Given the description of an element on the screen output the (x, y) to click on. 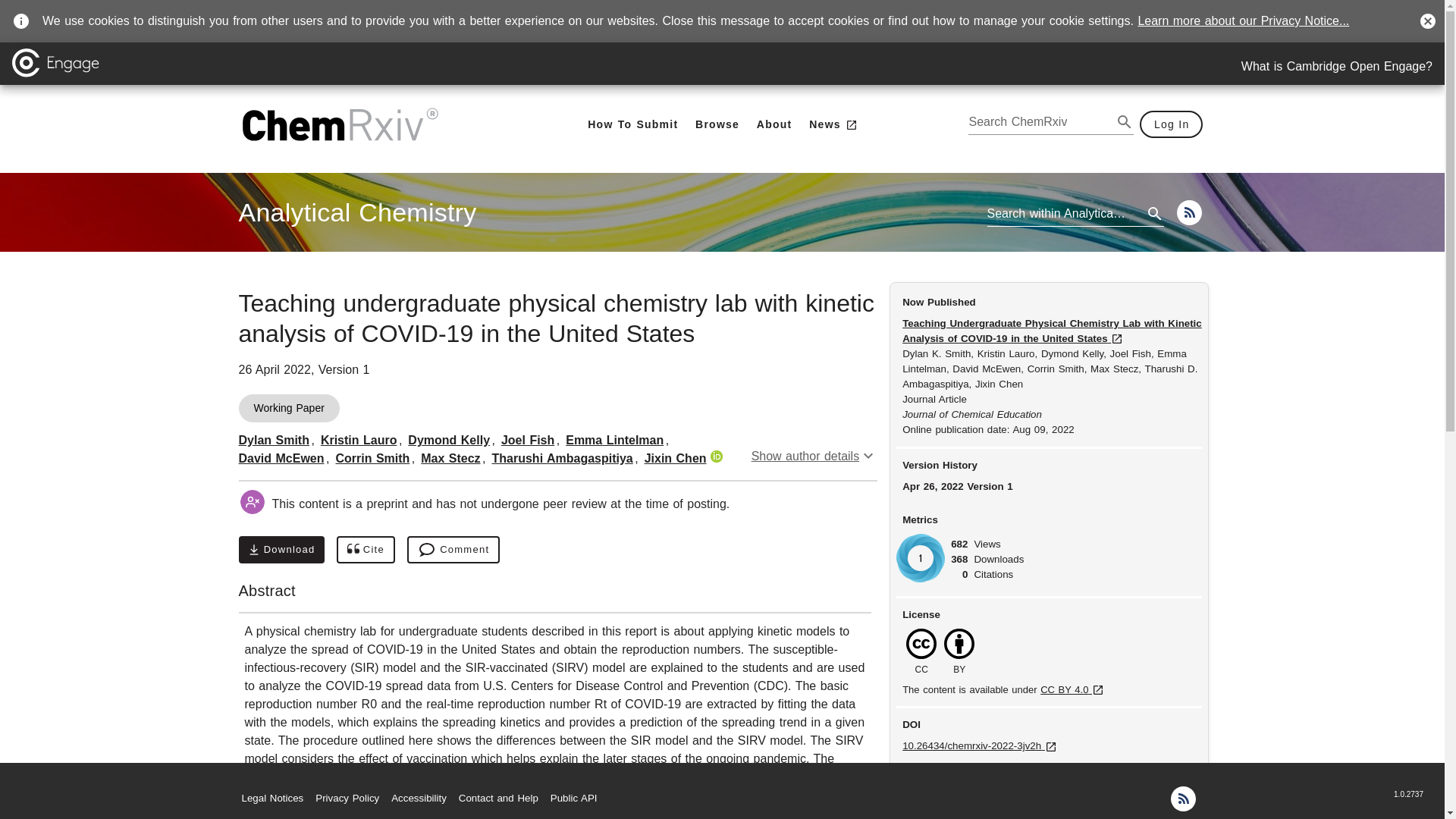
Joel Fish (527, 440)
Show author details (814, 455)
About (773, 124)
Tharushi Ambagaspitiya (562, 458)
Emma Lintelman (357, 212)
Dylan Smith (614, 440)
Corrin Smith (273, 440)
What is Cambridge Open Engage? (371, 458)
Download (1336, 66)
Max Stecz (280, 549)
Browse (450, 458)
Dymond Kelly (716, 124)
Cite (448, 440)
David McEwen (365, 549)
